Given the description of an element on the screen output the (x, y) to click on. 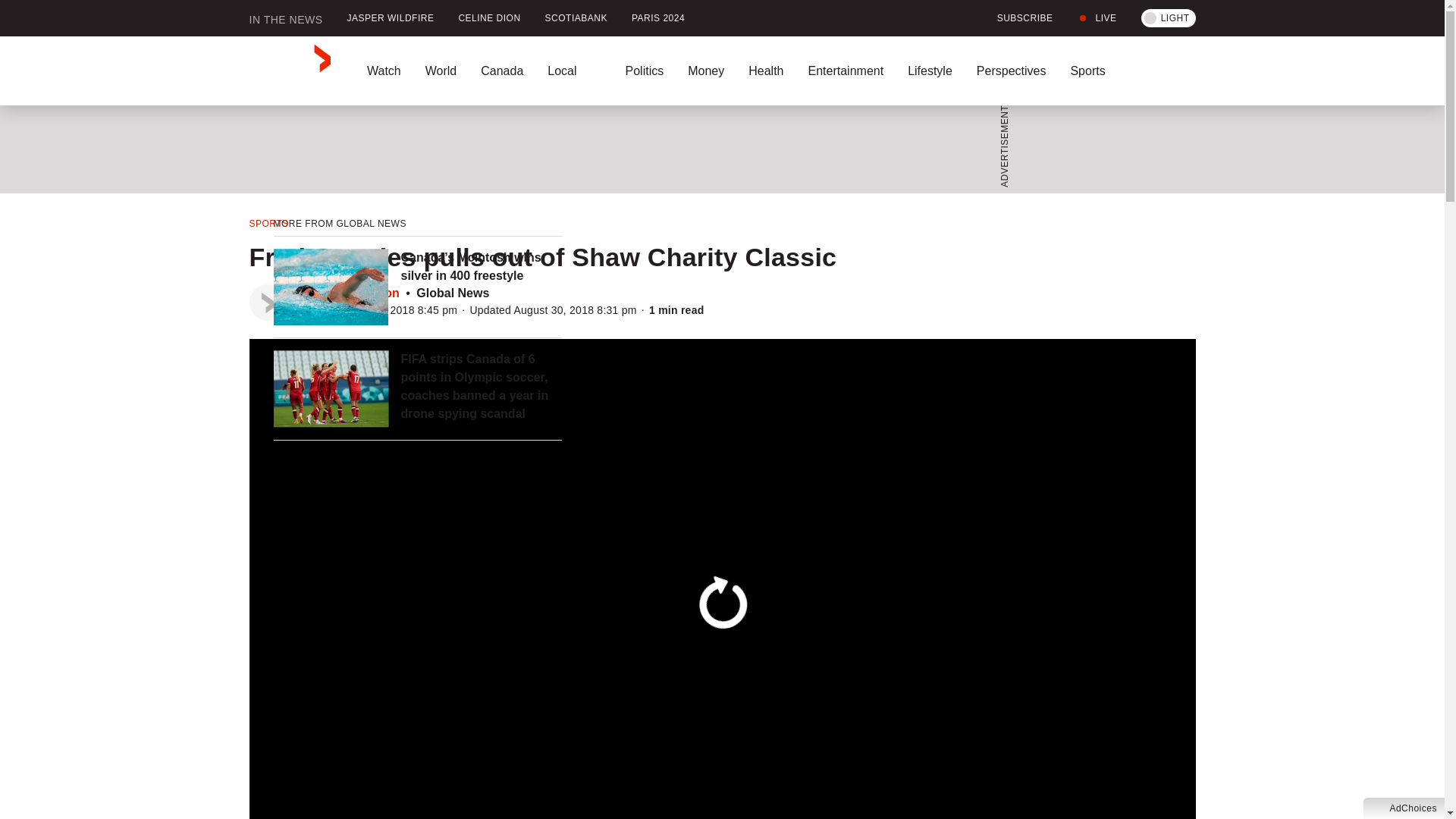
Local (573, 70)
SUBSCRIBE (1015, 18)
SCOTIABANK (576, 18)
GlobalNews home (289, 70)
Canada (501, 70)
Politics (643, 70)
Entertainment (844, 70)
LIVE (1096, 18)
Posts by Heide Pearson (356, 293)
3rd party ad content (716, 149)
Perspectives (1010, 70)
JASPER WILDFIRE (390, 18)
Lifestyle (929, 70)
PARIS 2024 (658, 18)
